Given the description of an element on the screen output the (x, y) to click on. 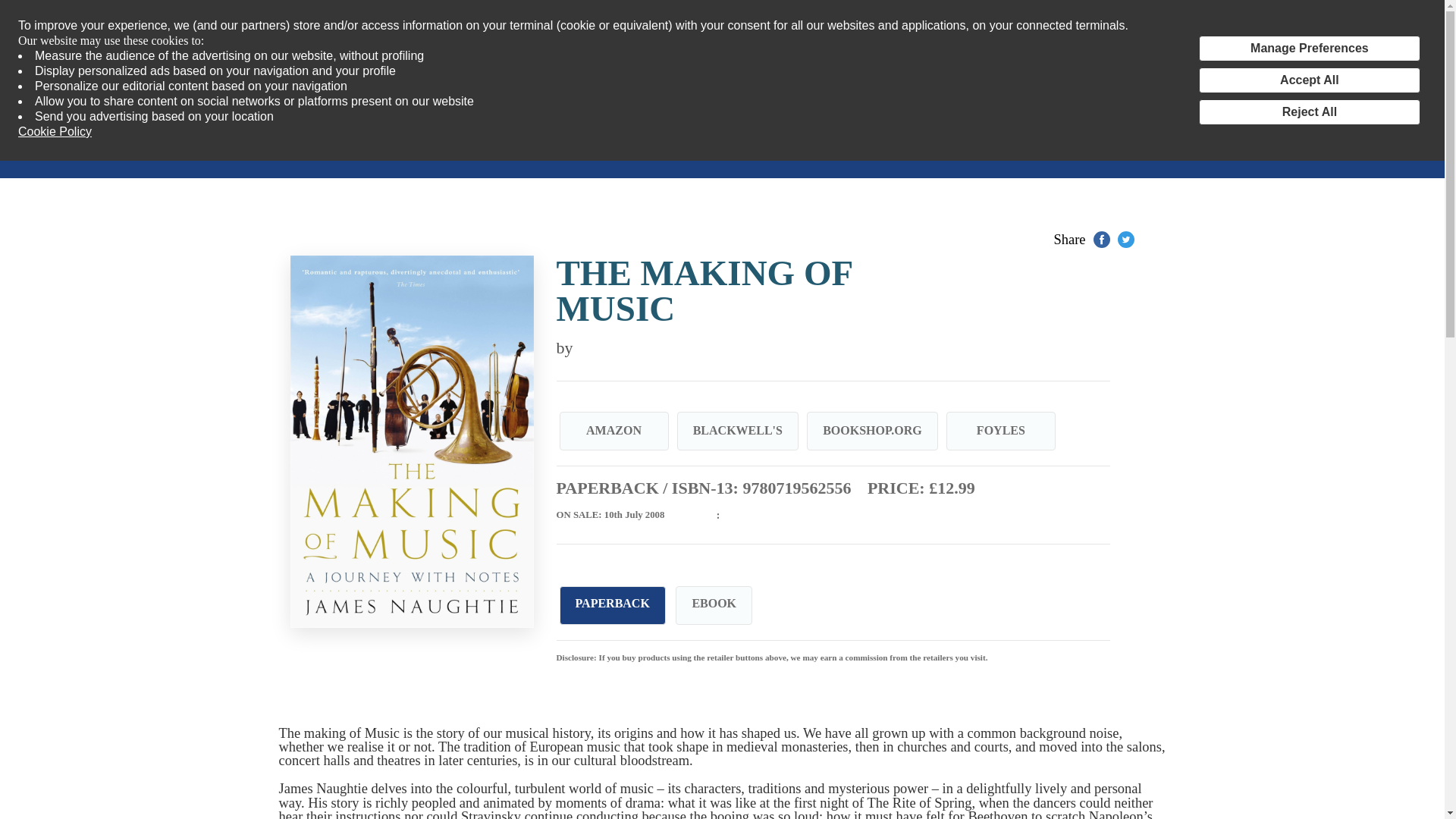
Manage Preferences (1309, 48)
IMPRINTS (179, 149)
Reject All (1309, 112)
Accept All (1309, 80)
ABOUT US (541, 149)
Cookie Policy (54, 131)
ebook (713, 604)
